Given the description of an element on the screen output the (x, y) to click on. 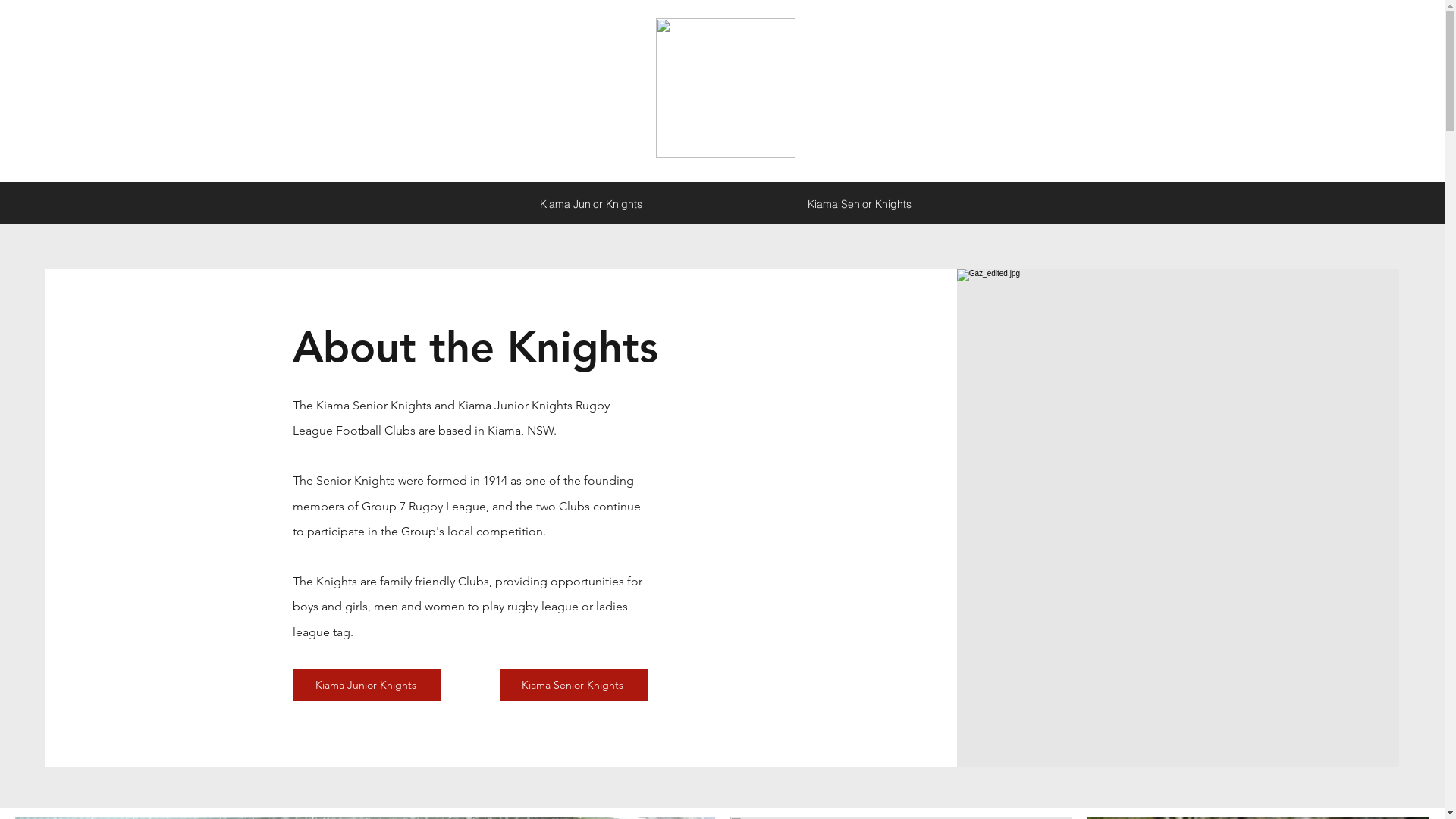
Kiama Junior Knights Element type: text (590, 203)
Kiama Junior Knights Element type: text (515, 405)
Kiama Senior Knights Element type: text (573, 684)
Kiama Senior Knights Element type: text (373, 405)
Kiama Junior Knights Element type: text (366, 684)
Kiama Senior Knights Element type: text (859, 203)
